Given the description of an element on the screen output the (x, y) to click on. 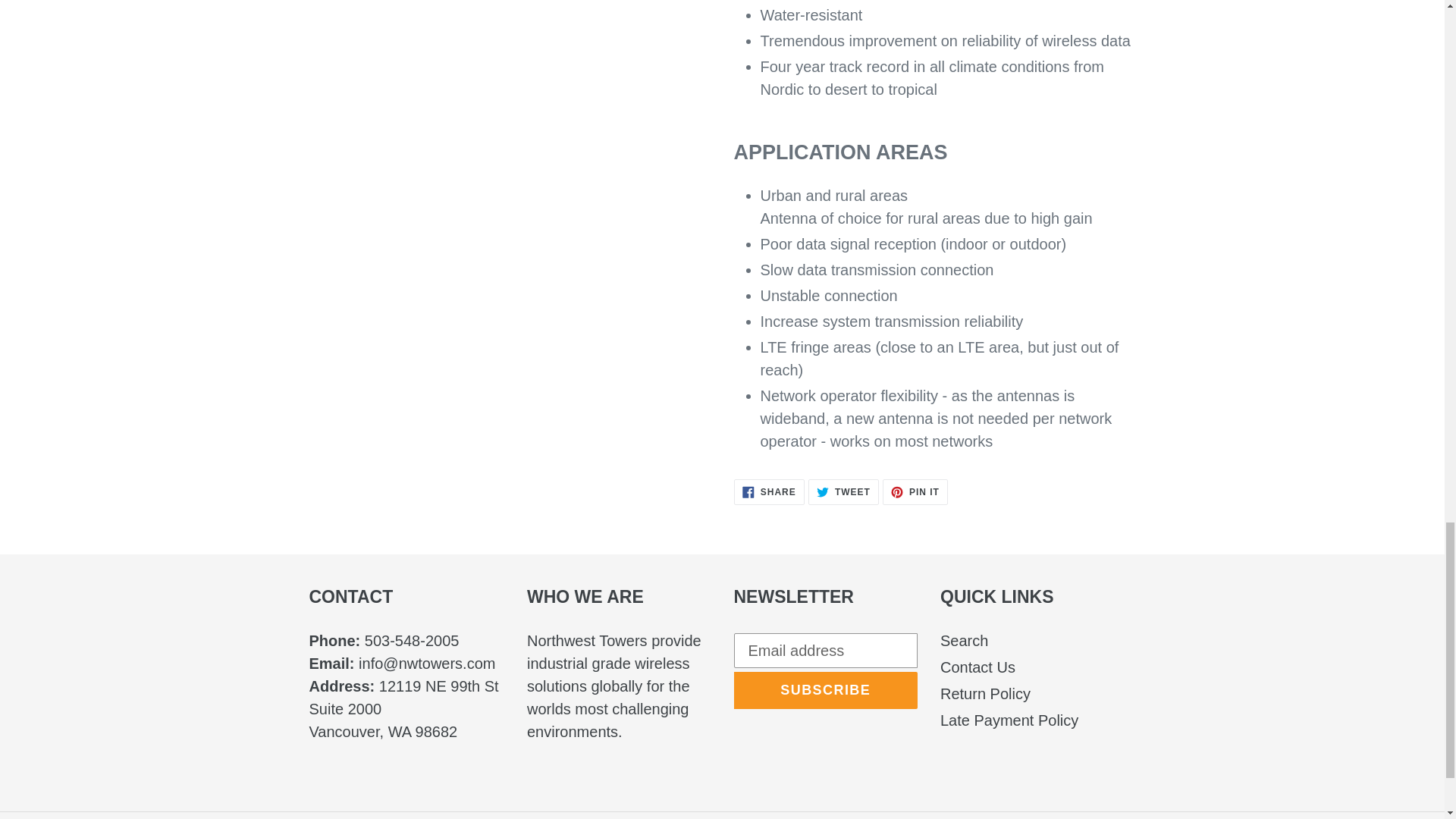
Return Policy (843, 492)
Search (985, 693)
Contact Us (964, 640)
SUBSCRIBE (977, 667)
Late Payment Policy (914, 492)
